Given the description of an element on the screen output the (x, y) to click on. 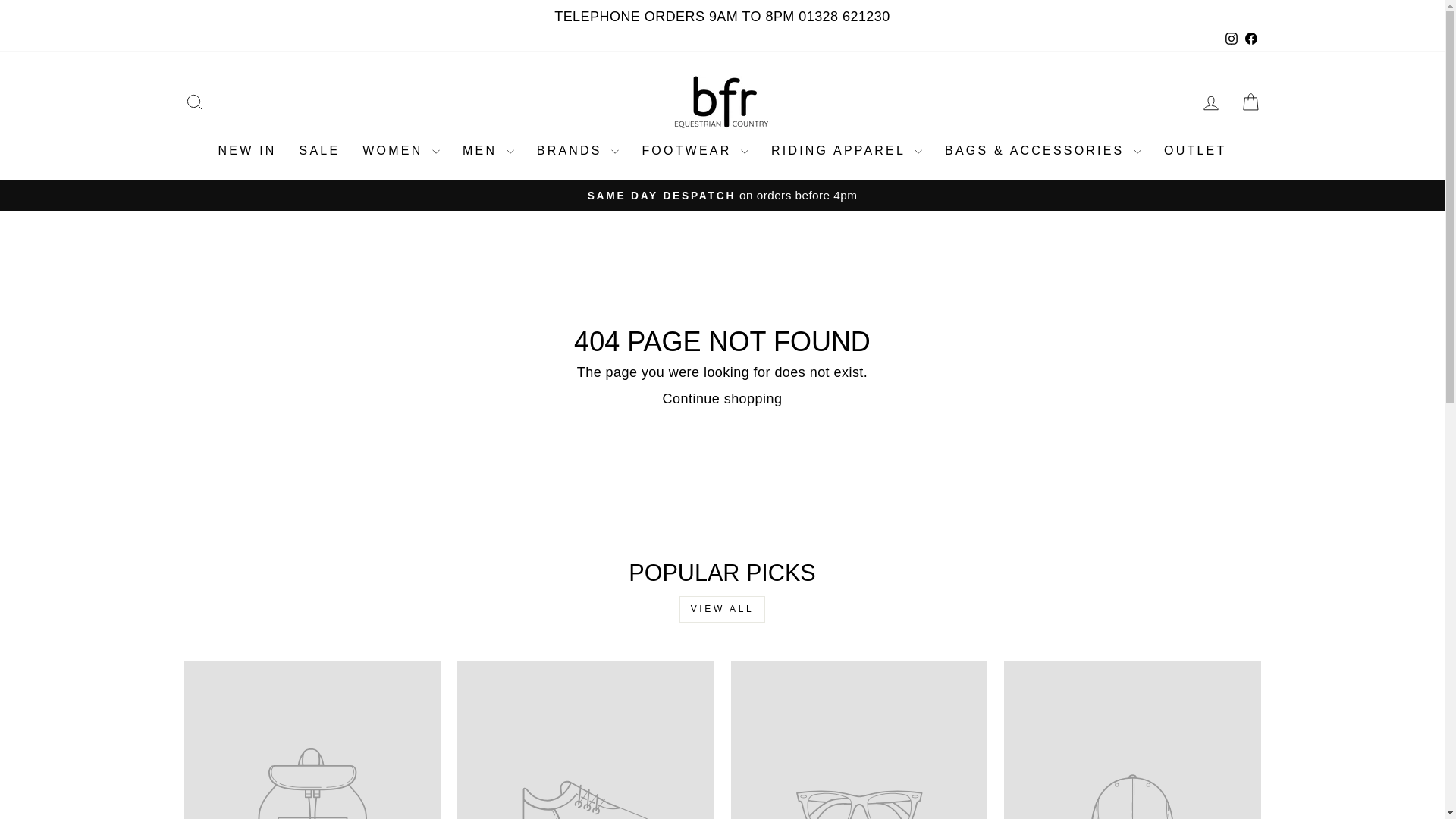
instagram (1231, 38)
01328 621230 (843, 17)
ACCOUNT (1210, 102)
ICON-SEARCH (194, 102)
